Given the description of an element on the screen output the (x, y) to click on. 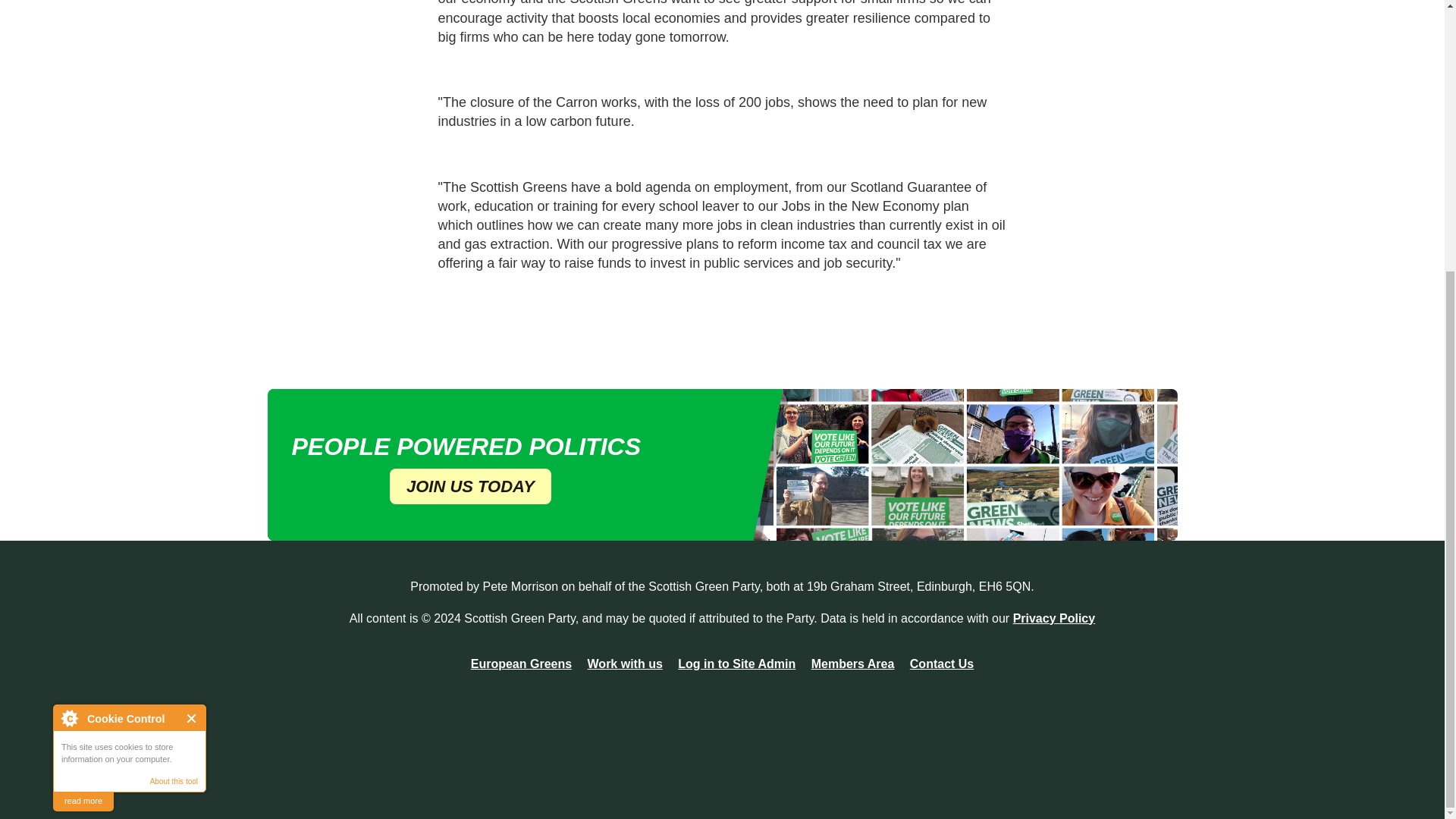
European Greens (521, 663)
read more (82, 403)
About this tool (173, 384)
About Cookie Control (68, 320)
Close (191, 320)
Privacy Policy (1054, 617)
JOIN US TODAY (470, 486)
About Cookie Control (68, 320)
